Given the description of an element on the screen output the (x, y) to click on. 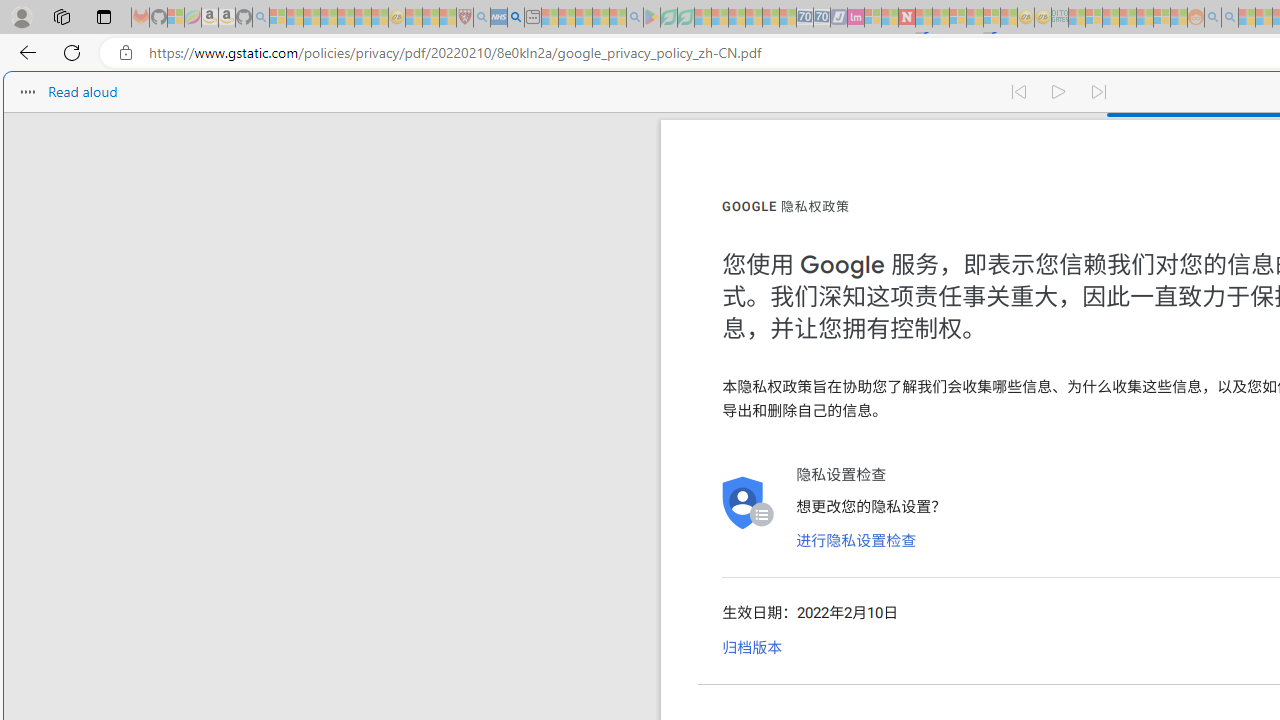
google - Search - Sleeping (634, 17)
